Given the description of an element on the screen output the (x, y) to click on. 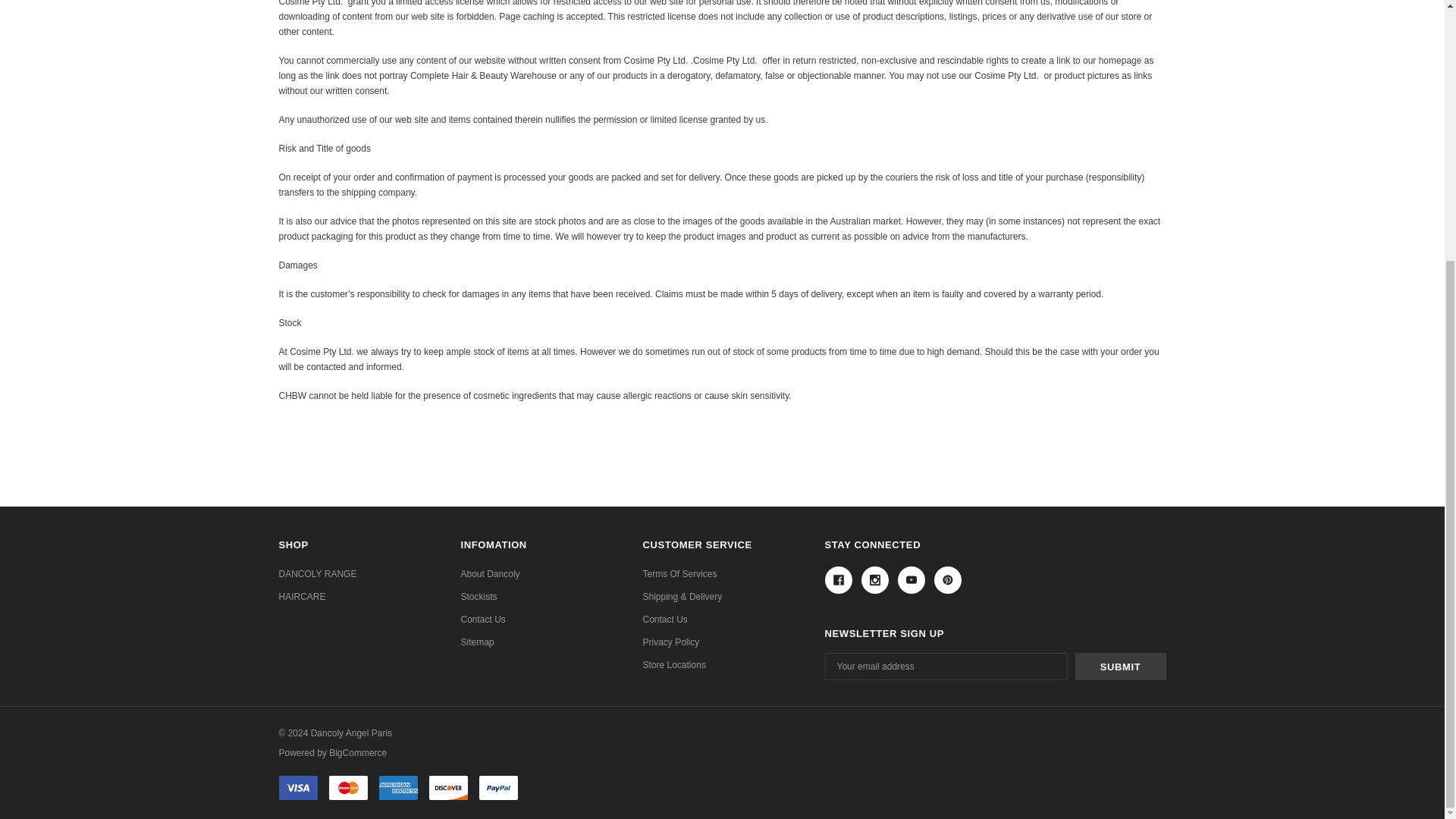
Submit (1120, 666)
